Given the description of an element on the screen output the (x, y) to click on. 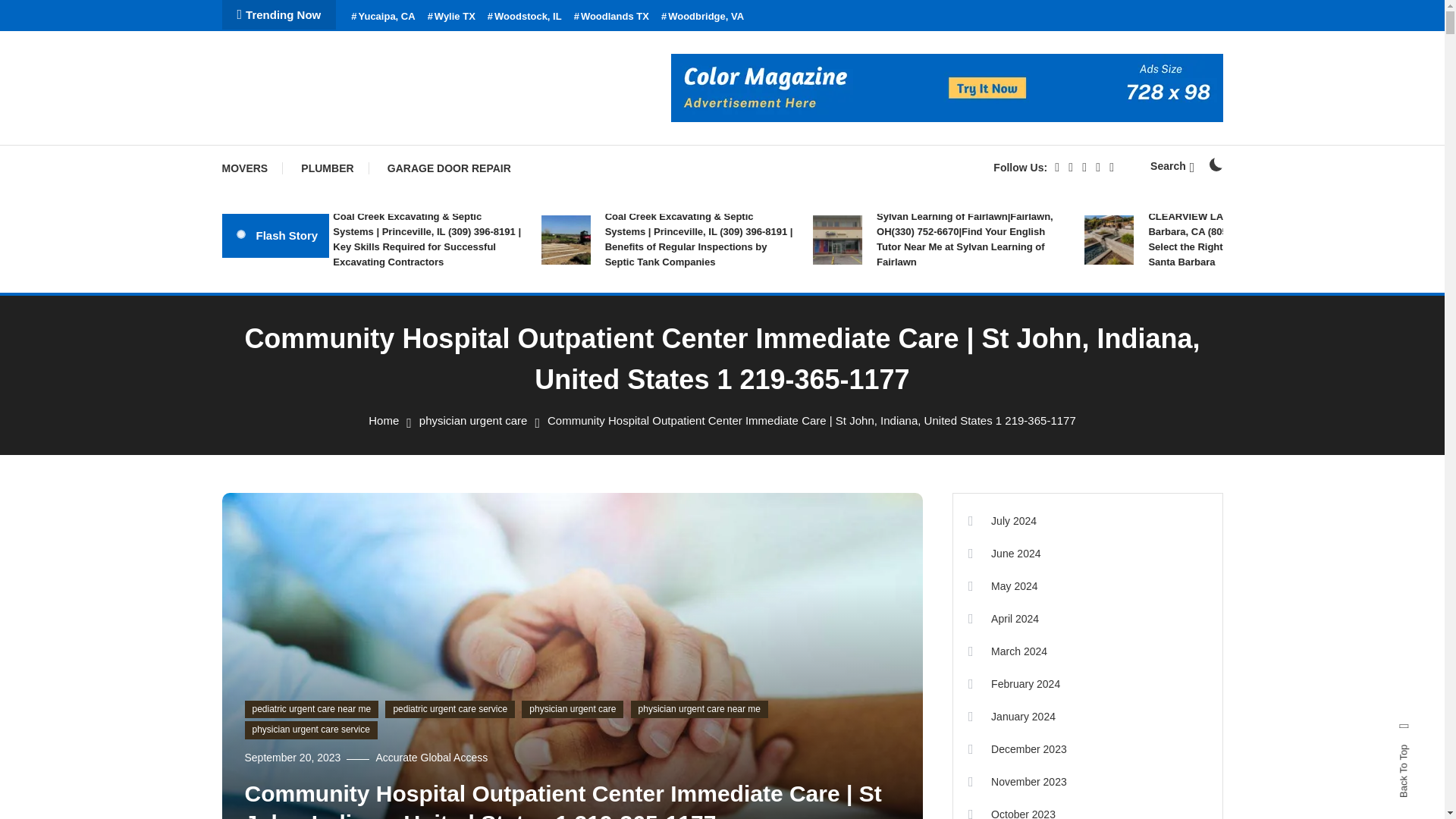
physician urgent care (473, 420)
Woodbridge, VA (702, 16)
MOVERS (251, 167)
Search (768, 434)
Woodstock, IL (524, 16)
Skip To Content (40, 10)
Wylie TX (452, 16)
on (1215, 164)
Woodlands TX (611, 16)
Yucaipa, CA (382, 16)
Home (383, 420)
PLUMBER (326, 167)
GARAGE DOOR REPAIR (448, 167)
Search (1171, 165)
